Given the description of an element on the screen output the (x, y) to click on. 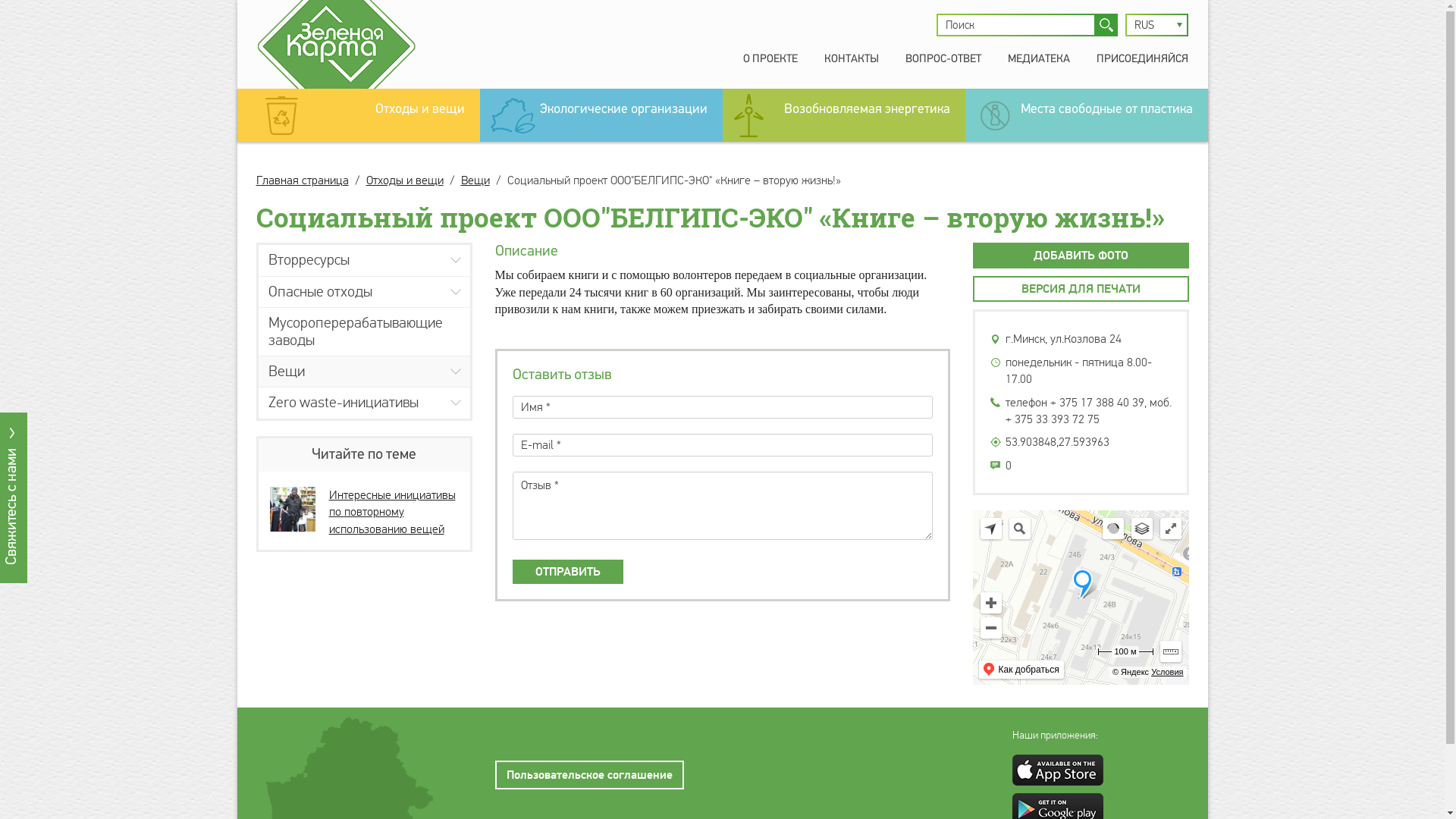
RUS Element type: text (1156, 24)
